Given the description of an element on the screen output the (x, y) to click on. 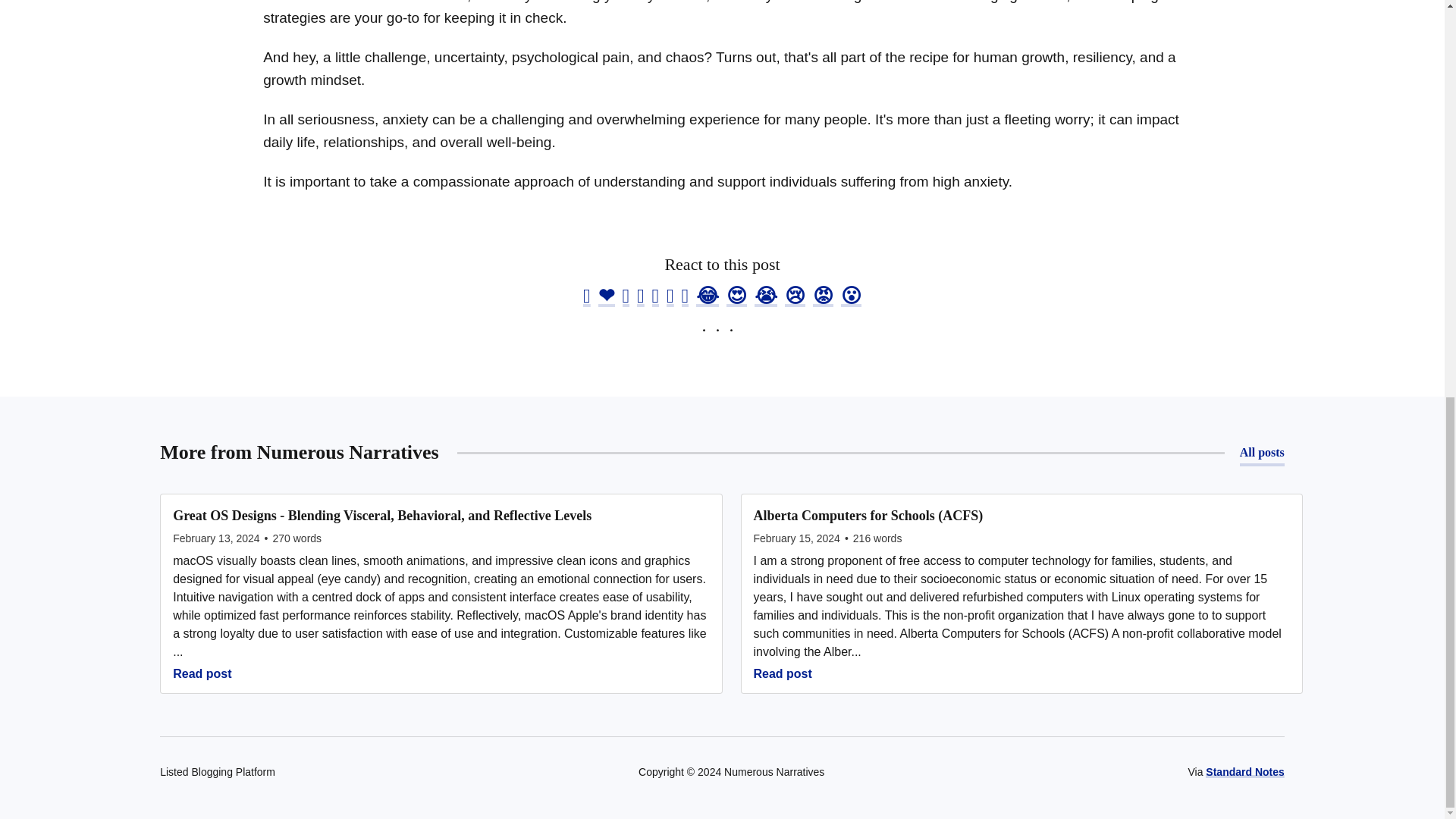
All posts (1262, 452)
Standard Notes (1244, 771)
Read post (441, 673)
Read post (1022, 673)
